Given the description of an element on the screen output the (x, y) to click on. 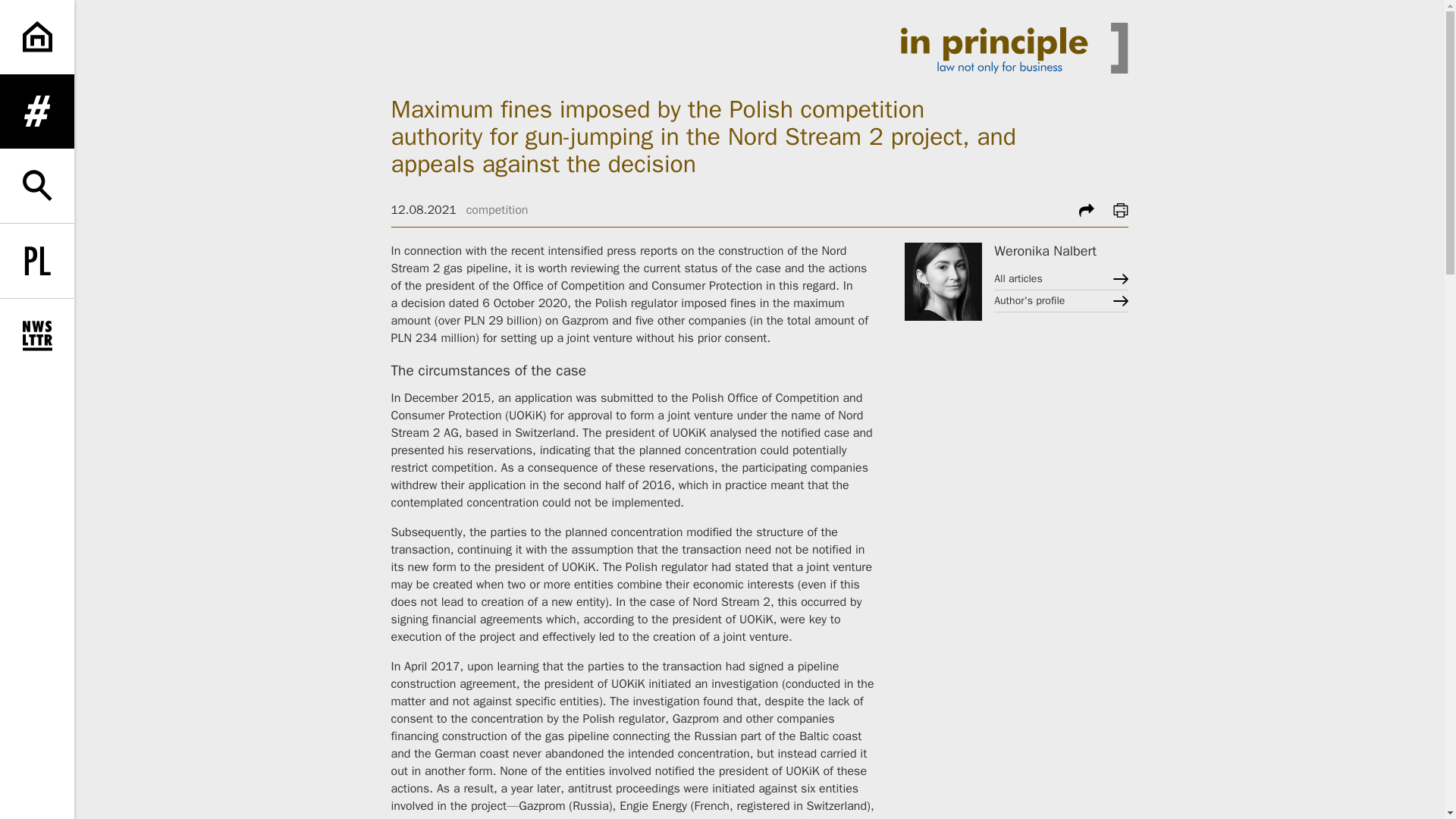
expand newsletter subscription form (37, 335)
expand search form (37, 185)
expand menu (37, 111)
